Given the description of an element on the screen output the (x, y) to click on. 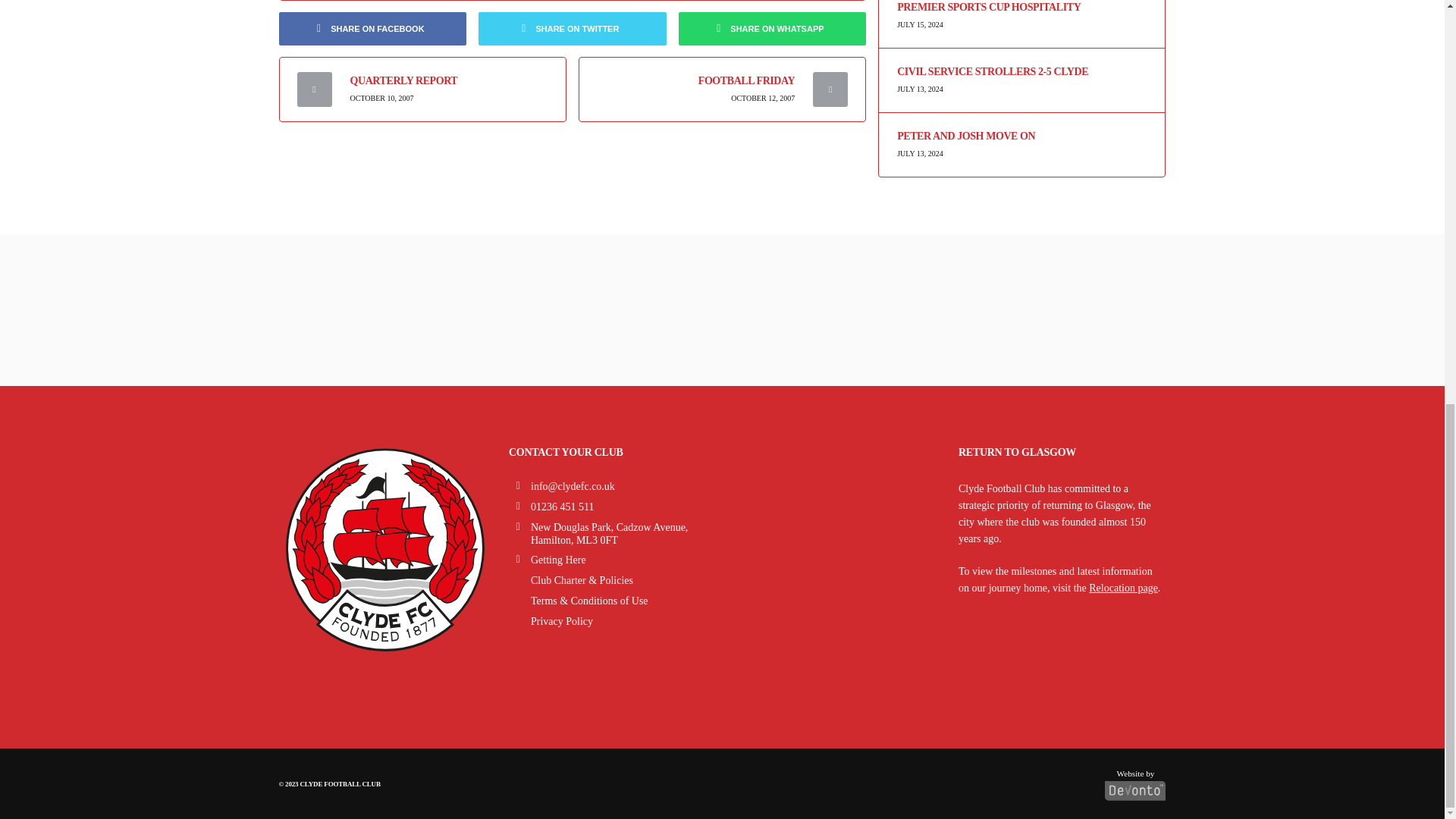
Peter and Josh Move On (1021, 136)
Civil Service Strollers 2-5 Clyde (1021, 71)
Premier Sports Cup Hospitality (1021, 7)
Web Developer Cumbernauld (1135, 781)
